Given the description of an element on the screen output the (x, y) to click on. 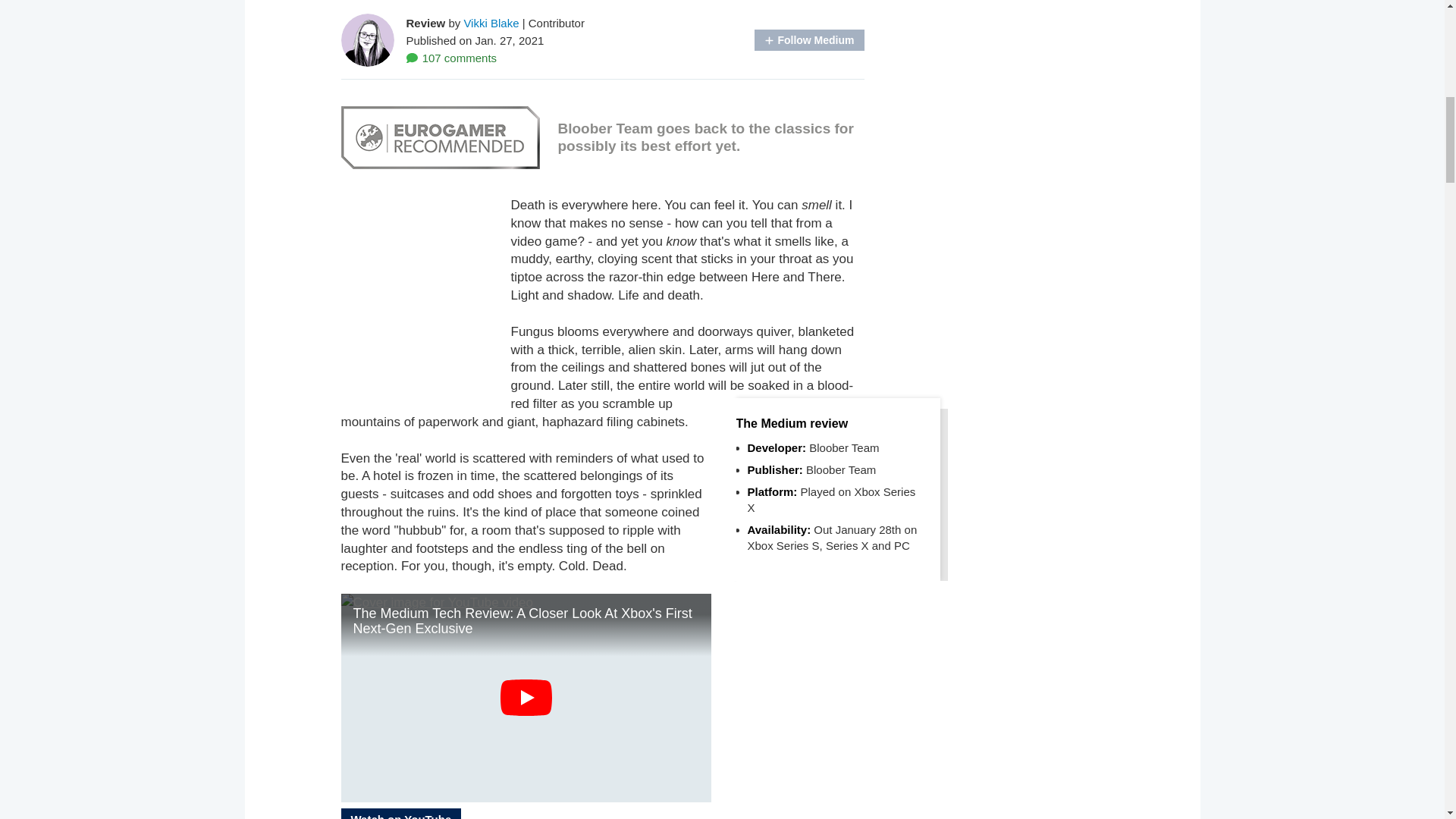
Vikki Blake (490, 22)
Follow Medium (808, 39)
Watch on YouTube (400, 813)
107 comments (451, 57)
